Given the description of an element on the screen output the (x, y) to click on. 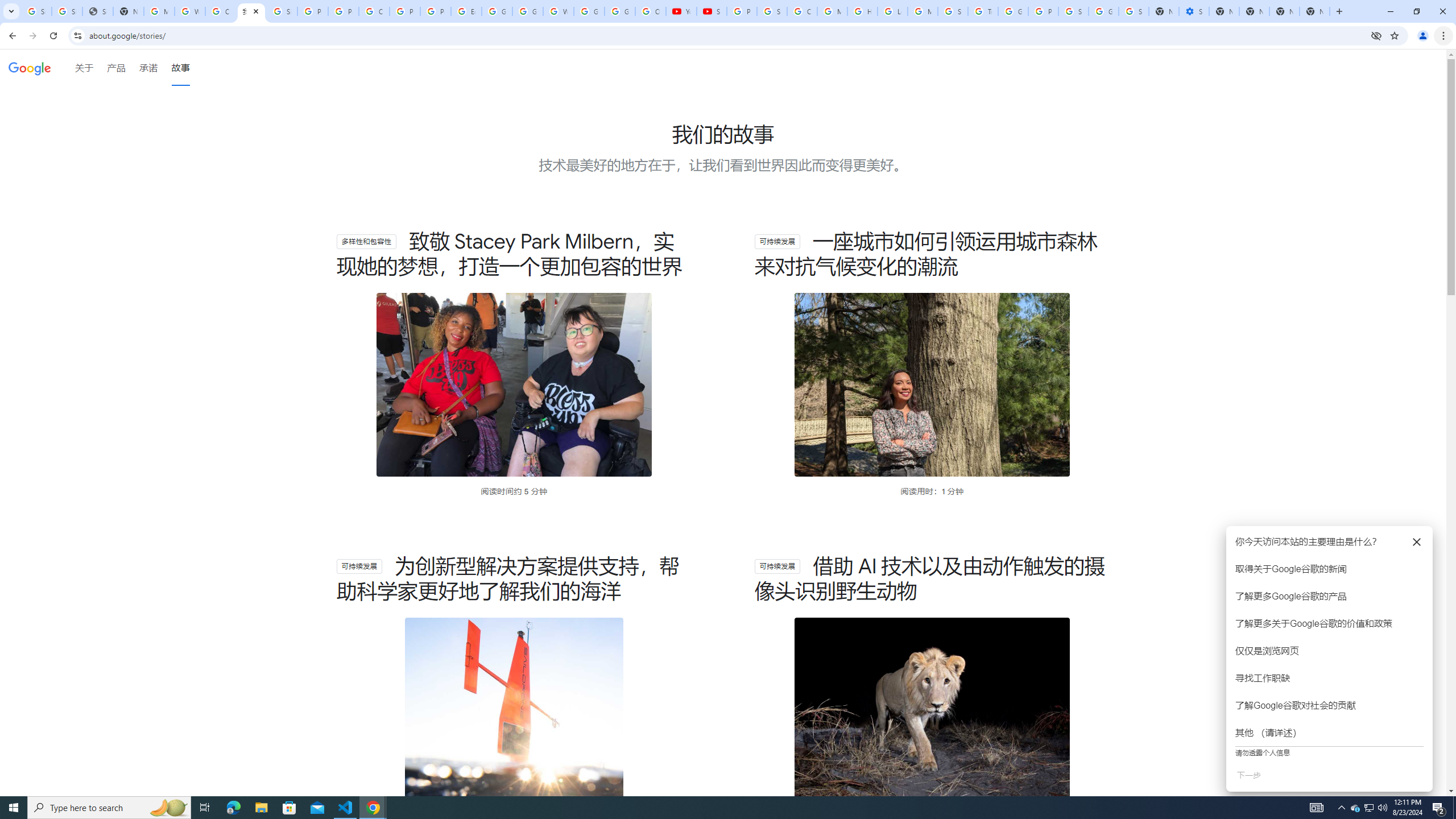
Google Account (619, 11)
Sign in - Google Accounts (36, 11)
Sign In - USA TODAY (97, 11)
Subscriptions - YouTube (711, 11)
